Given the description of an element on the screen output the (x, y) to click on. 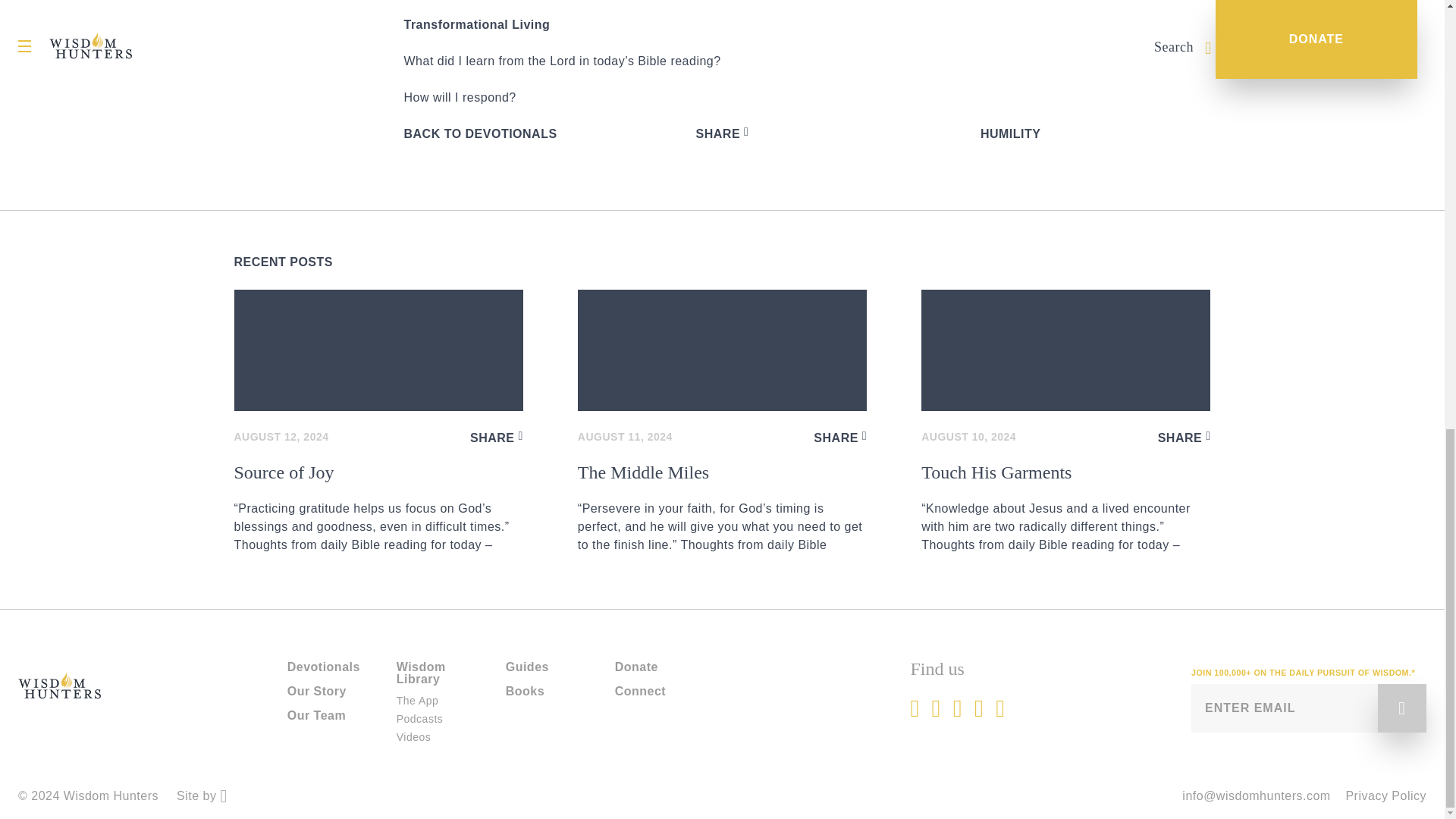
Permalink to: The Middle Miles (722, 507)
SHARE (839, 436)
Permalink to: Touch His Garments (1065, 507)
SHARE (496, 436)
SHARE (722, 133)
Send (1401, 707)
Permalink to: Source of Joy (377, 350)
HUMILITY (1010, 133)
Permalink to: The Middle Miles (722, 350)
Permalink to: Source of Joy (377, 507)
